Given the description of an element on the screen output the (x, y) to click on. 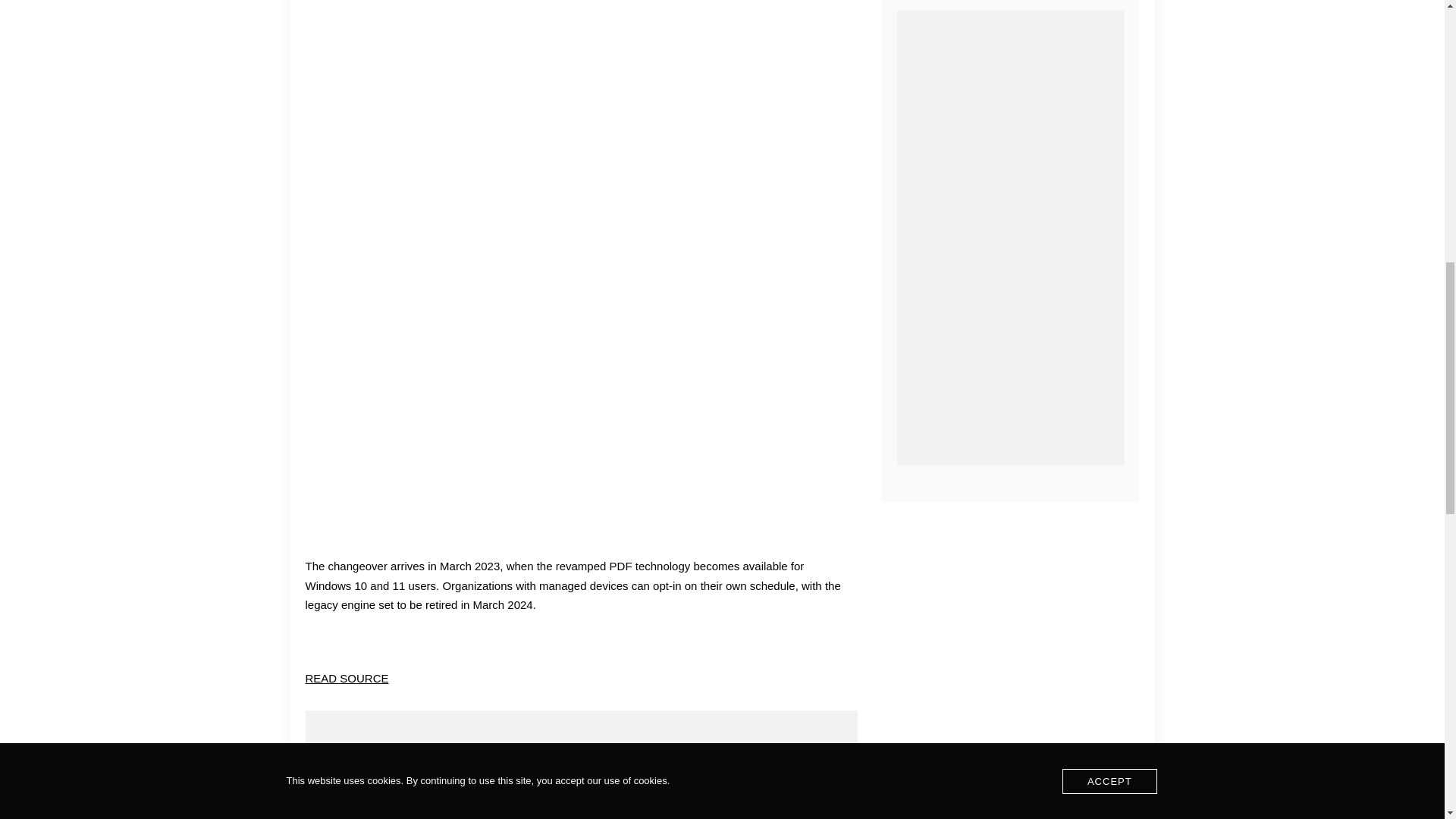
READ SOURCE (346, 677)
